Given the description of an element on the screen output the (x, y) to click on. 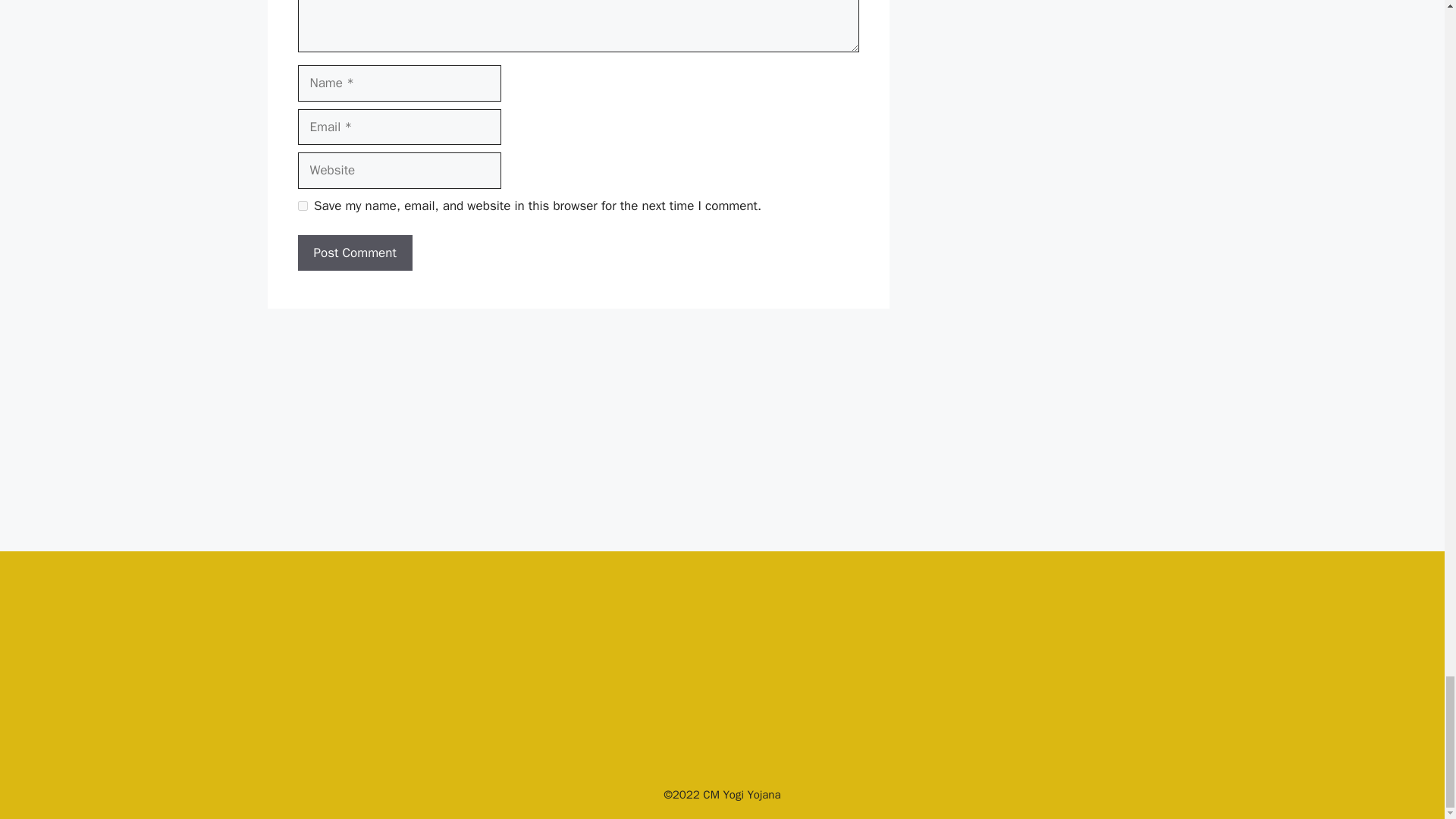
Post Comment (354, 253)
yes (302, 205)
Post Comment (354, 253)
